Given the description of an element on the screen output the (x, y) to click on. 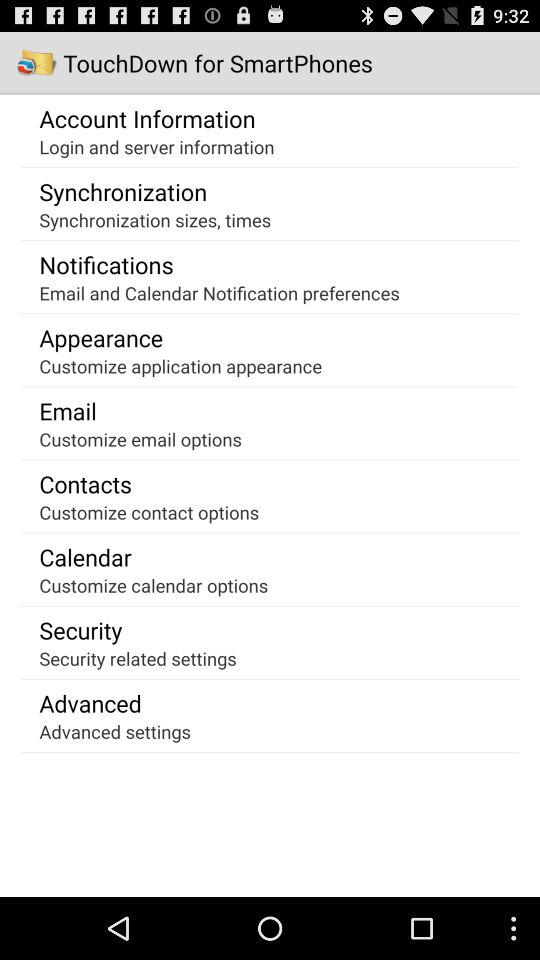
click account information icon (147, 118)
